Given the description of an element on the screen output the (x, y) to click on. 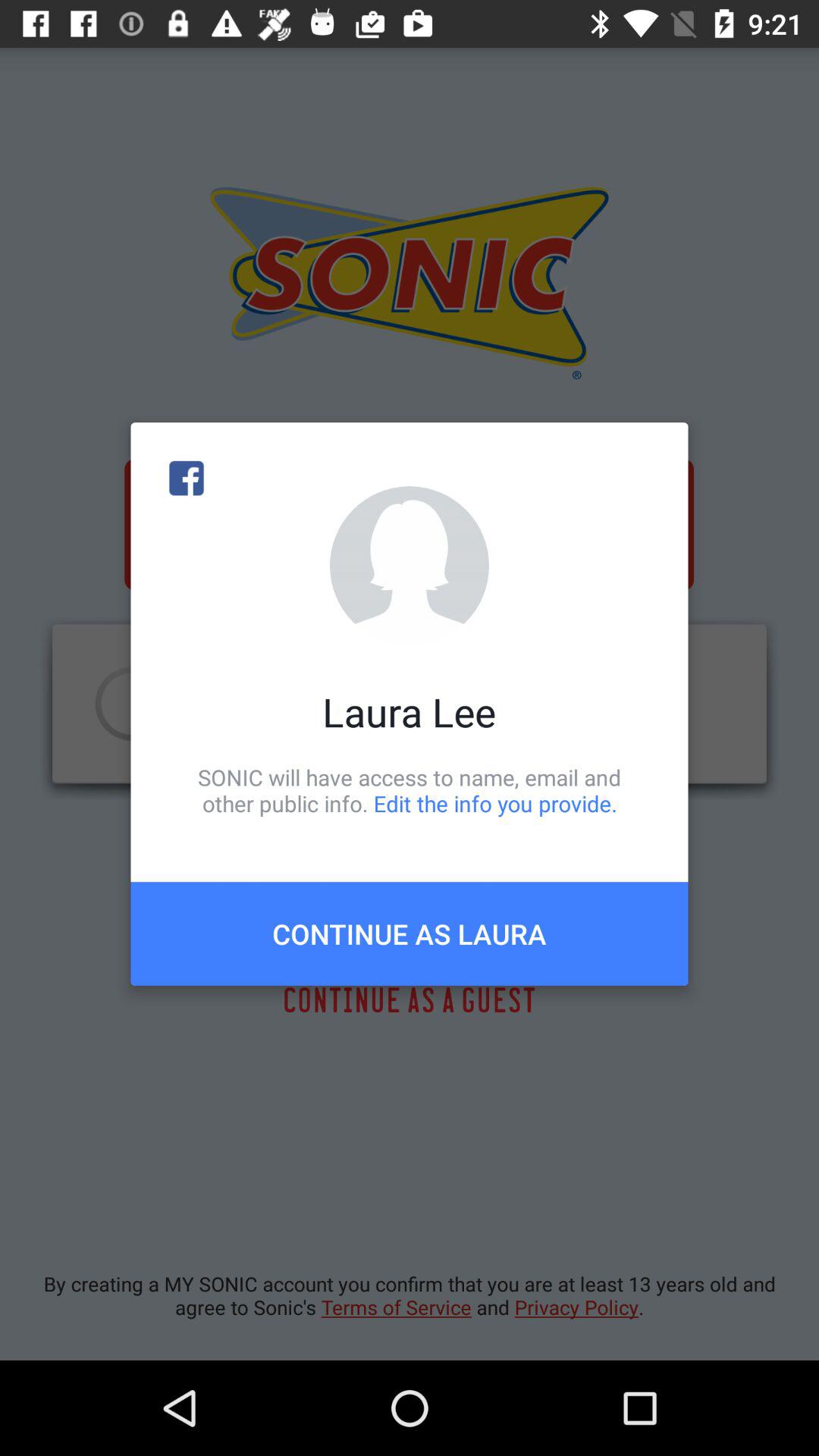
scroll to the continue as laura (409, 933)
